Given the description of an element on the screen output the (x, y) to click on. 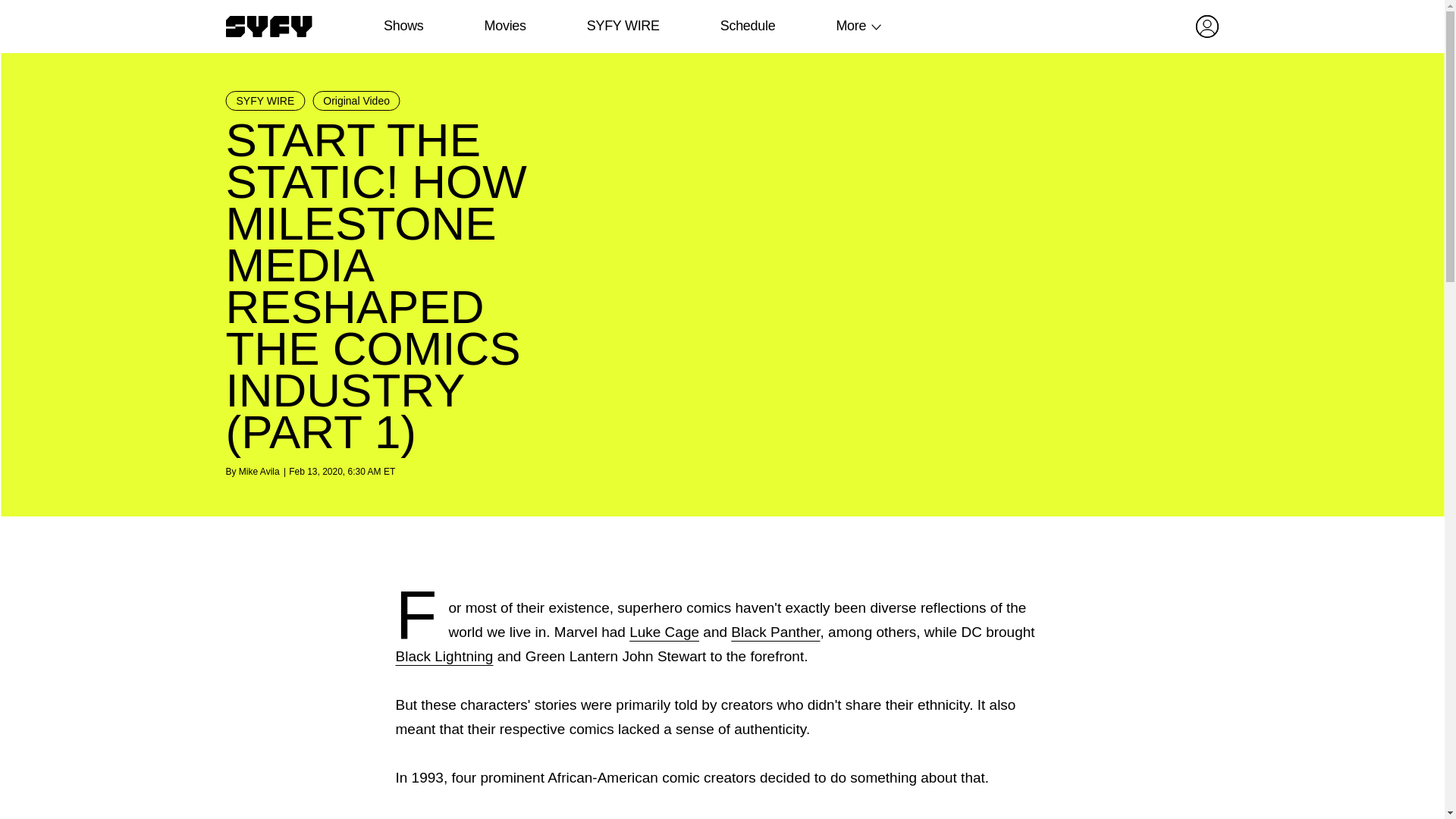
Schedule (746, 26)
Mike Avila (258, 471)
More (850, 26)
Black Panther (774, 631)
Black Lightning (444, 656)
Original Video (356, 100)
Movies (504, 26)
SYFY WIRE (622, 26)
Luke Cage (663, 631)
